Given the description of an element on the screen output the (x, y) to click on. 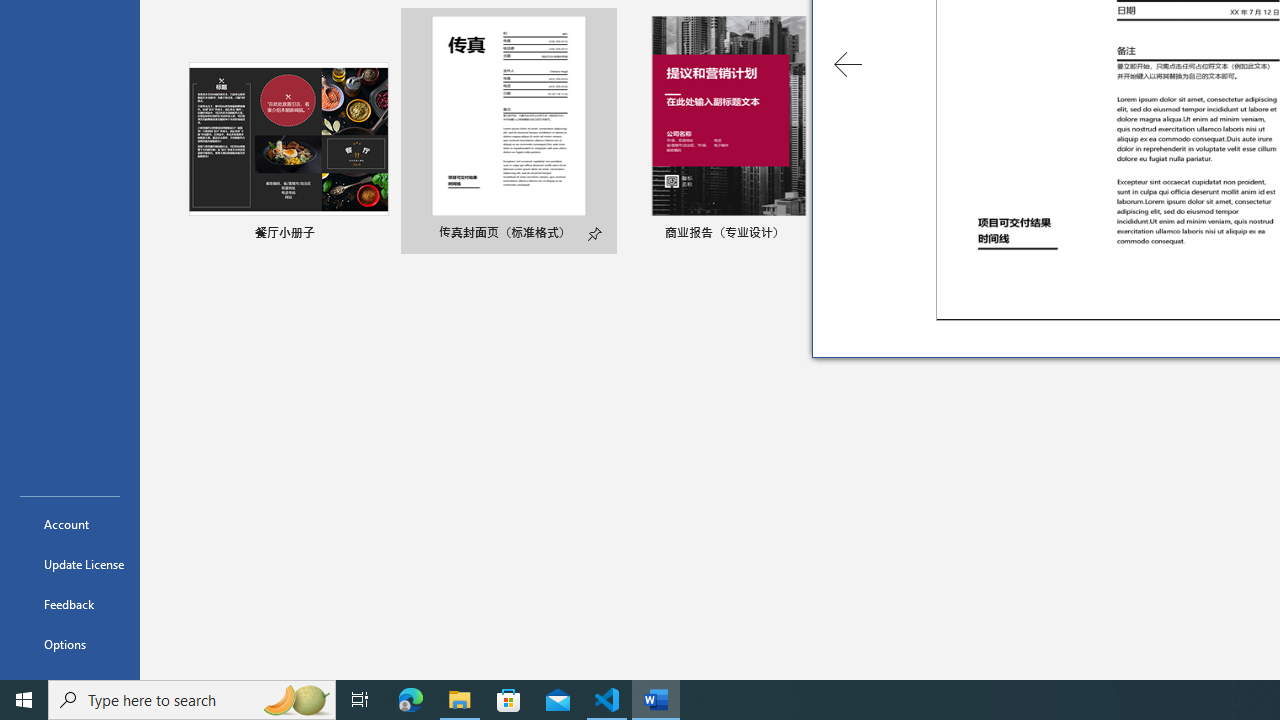
Feedback (69, 603)
Microsoft Edge (411, 699)
Account (69, 523)
Previous Template (847, 64)
Update License (69, 563)
Options (69, 643)
Word - 1 running window (656, 699)
